Given the description of an element on the screen output the (x, y) to click on. 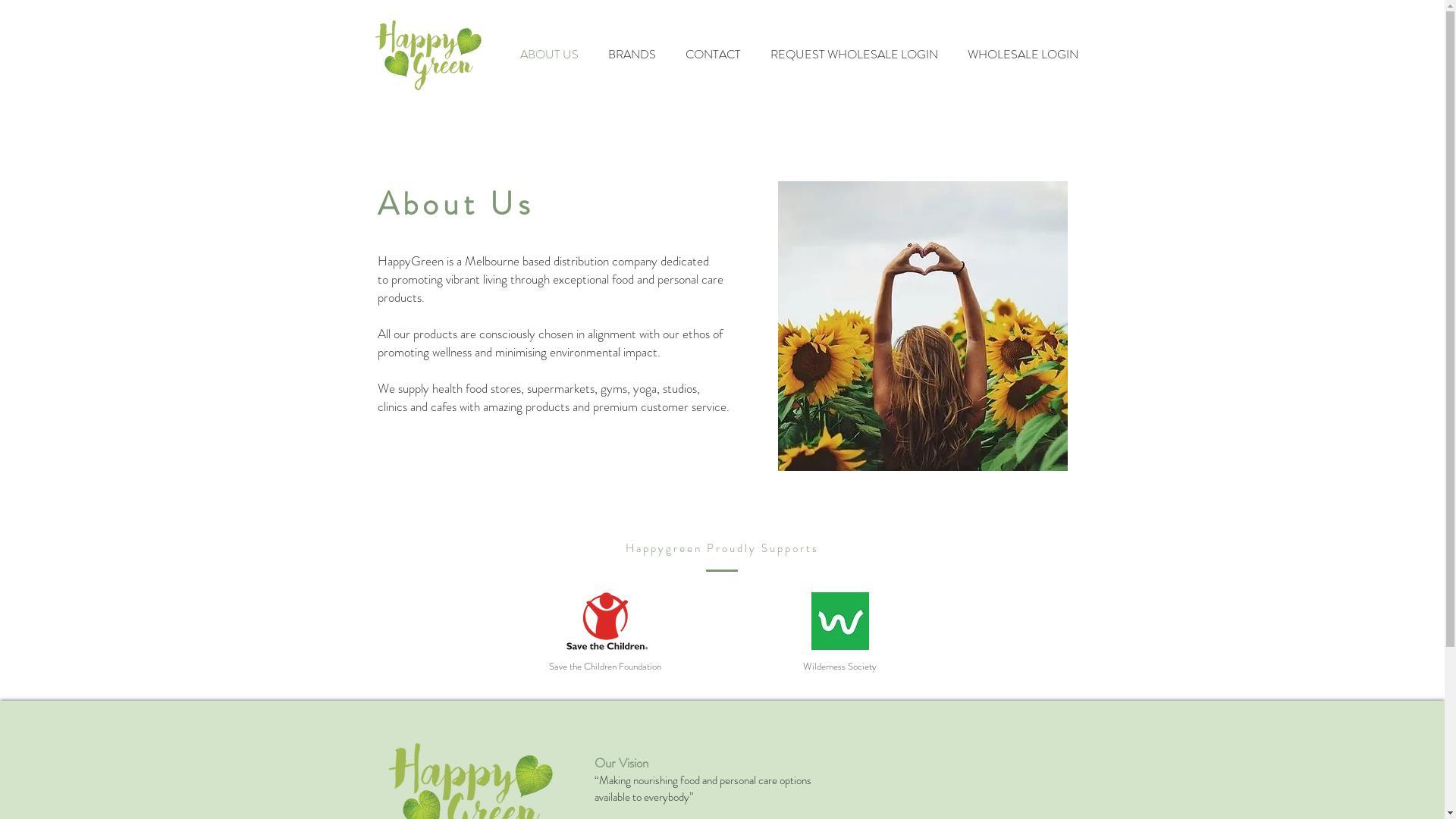
CONTACT Element type: text (712, 54)
Save the Children Element type: hover (605, 620)
ABOUT US Element type: text (549, 54)
BRANDS Element type: text (631, 54)
REQUEST WHOLESALE LOGIN Element type: text (853, 54)
WHOLESALE LOGIN Element type: text (1022, 54)
